Given the description of an element on the screen output the (x, y) to click on. 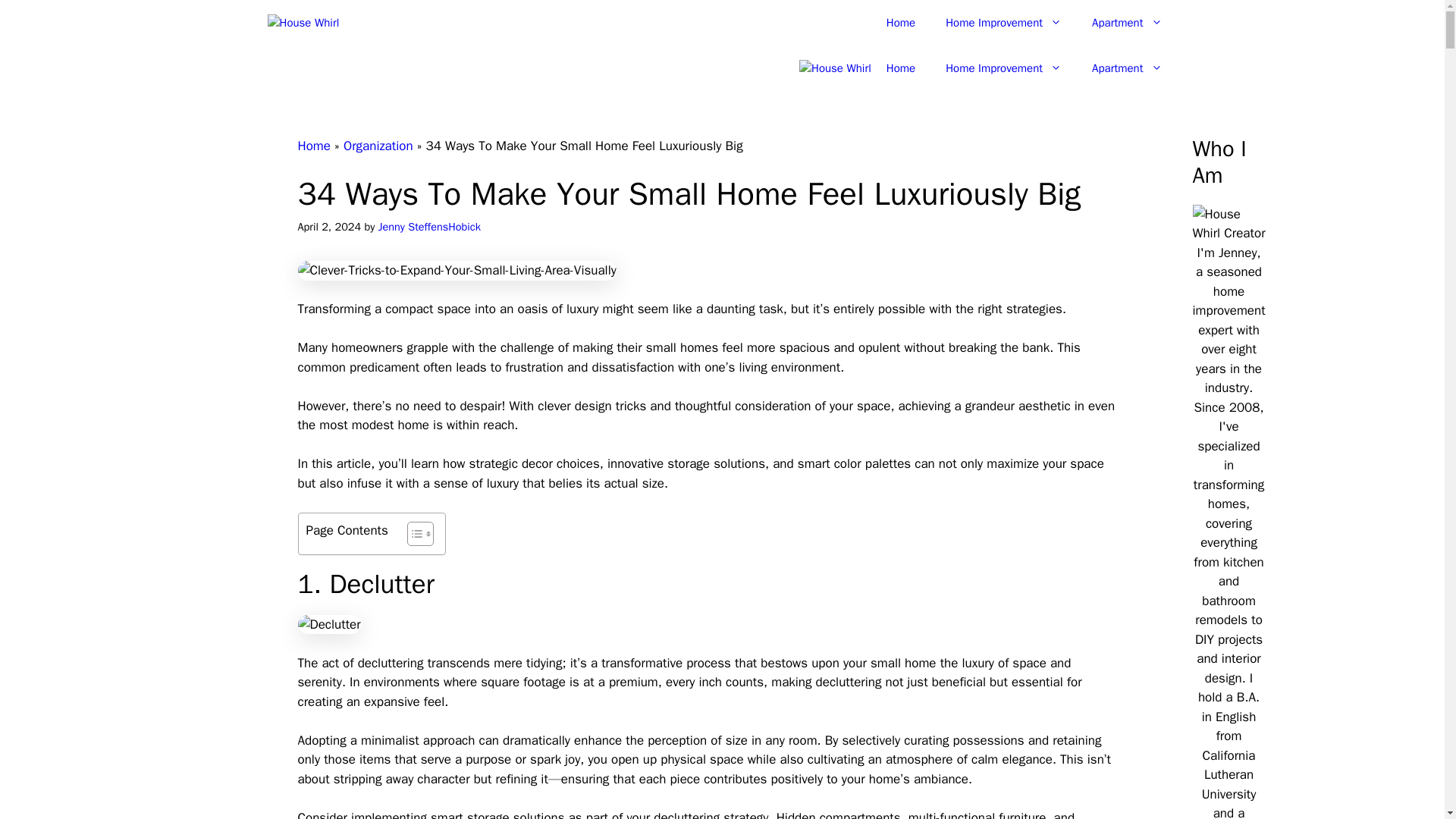
Home (900, 22)
View all posts by Jenny SteffensHobick (429, 226)
Home Improvement (1003, 67)
Organization (378, 145)
Jenny SteffensHobick (429, 226)
Clever Tricks to Expand Your Small Living Area Visually (456, 270)
Apartment (1126, 22)
Home (313, 145)
Home (900, 67)
Home Improvement (1003, 22)
